Given the description of an element on the screen output the (x, y) to click on. 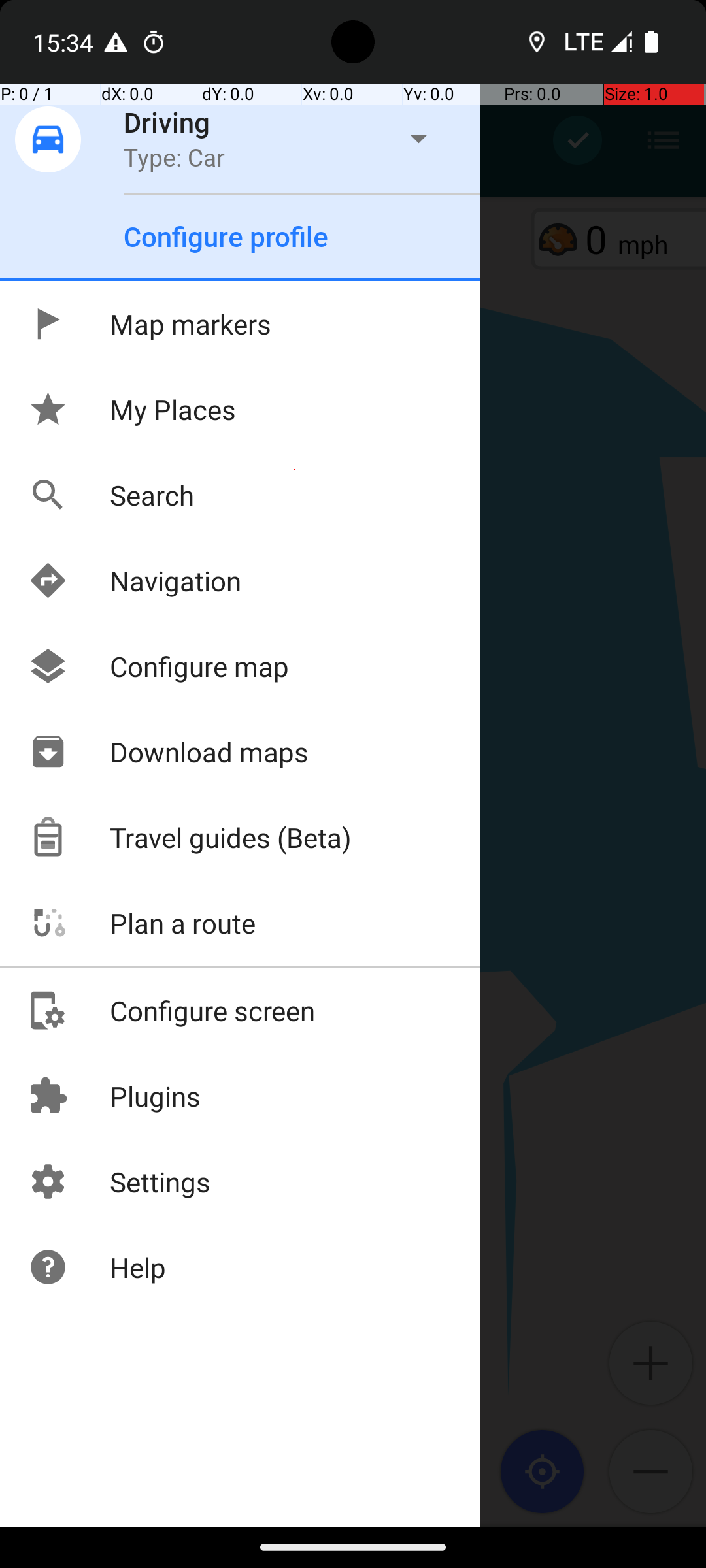
Driving Element type: android.widget.TextView (166, 121)
Type: Car Element type: android.widget.TextView (173, 156)
Configure profile Element type: android.widget.TextView (225, 235)
Map markers Element type: android.widget.TextView (149, 323)
My Places Element type: android.widget.TextView (131, 409)
Navigation Element type: android.widget.TextView (134, 580)
Download maps Element type: android.widget.TextView (168, 751)
Travel guides (Beta) Element type: android.widget.TextView (189, 837)
Plan a route Element type: android.widget.TextView (141, 922)
Configure screen Element type: android.widget.TextView (171, 1010)
Plugins Element type: android.widget.TextView (114, 1095)
Help Element type: android.widget.TextView (96, 1266)
